Given the description of an element on the screen output the (x, y) to click on. 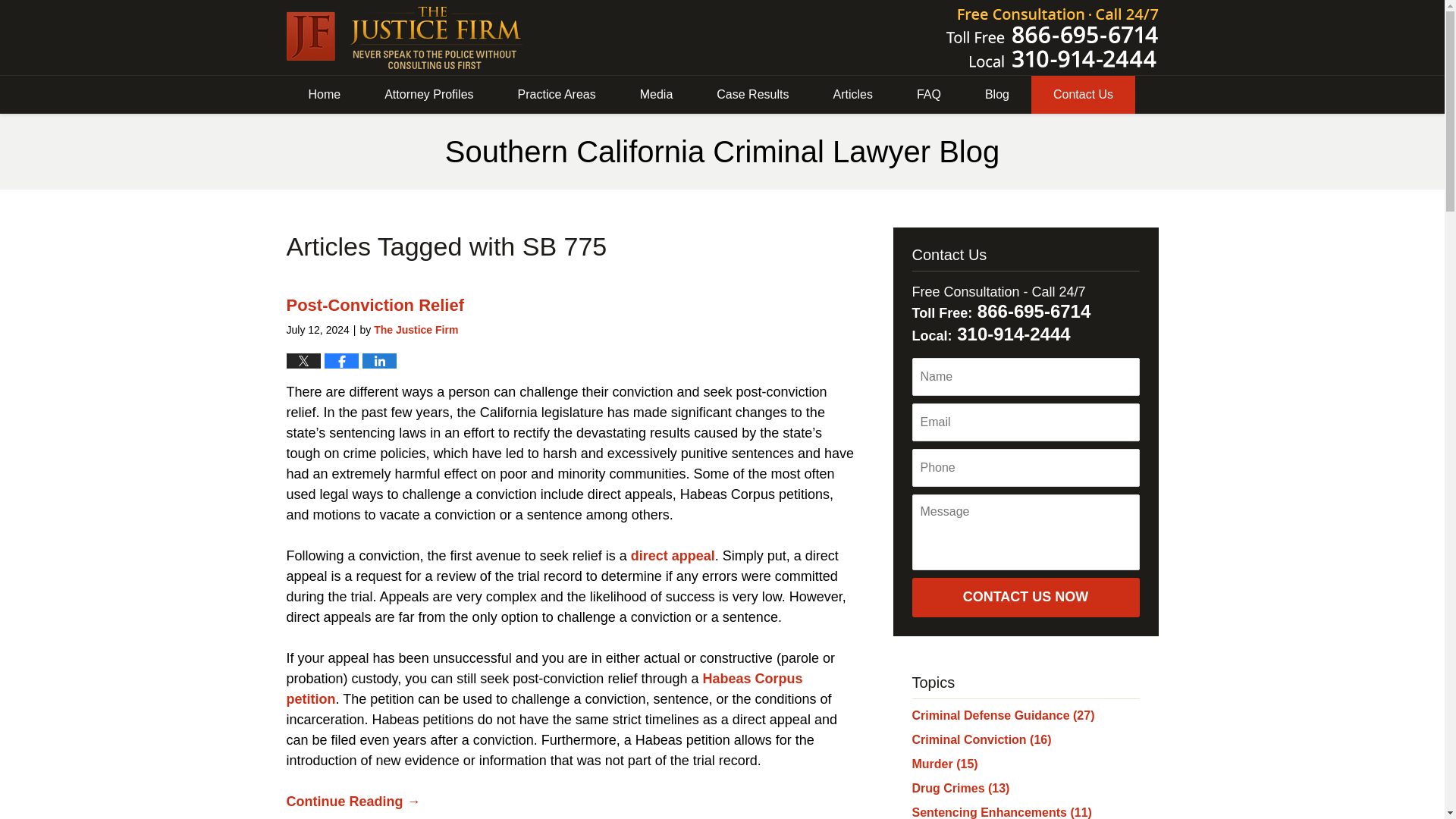
FAQ (928, 94)
direct appeal (672, 555)
Articles (851, 94)
Southern California Criminal Lawyer Blog (404, 37)
Post-Conviction Relief (375, 304)
Practice Areas (556, 94)
Continue Reading Post-Conviction Relief (353, 801)
Habeas Corpus petition (544, 688)
Media (656, 94)
Home (324, 94)
